Given the description of an element on the screen output the (x, y) to click on. 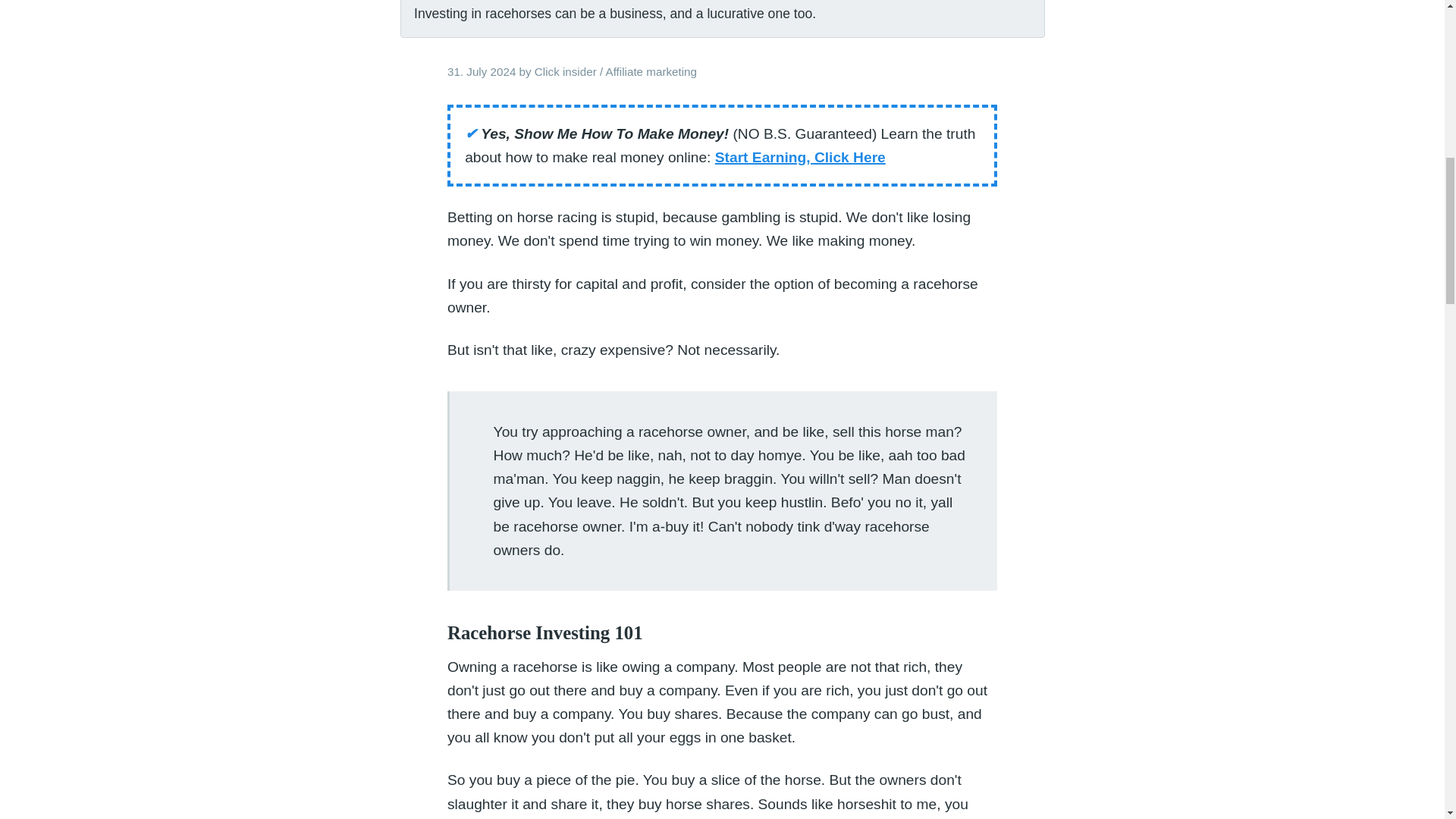
Affiliate marketing (651, 71)
Start Earning, Click Here (799, 157)
Click insider (565, 71)
